Given the description of an element on the screen output the (x, y) to click on. 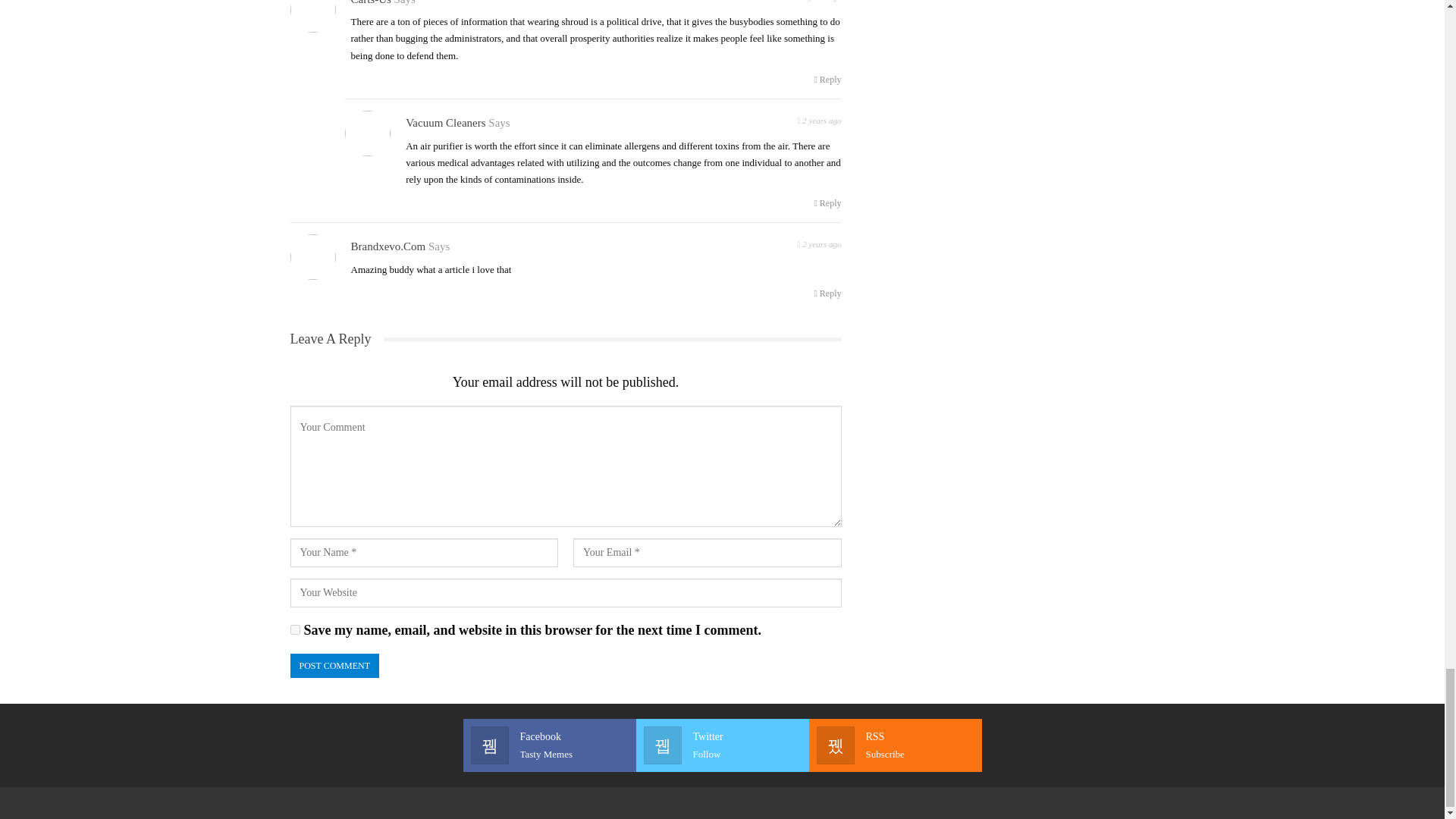
Post Comment (333, 665)
yes (294, 629)
